Given the description of an element on the screen output the (x, y) to click on. 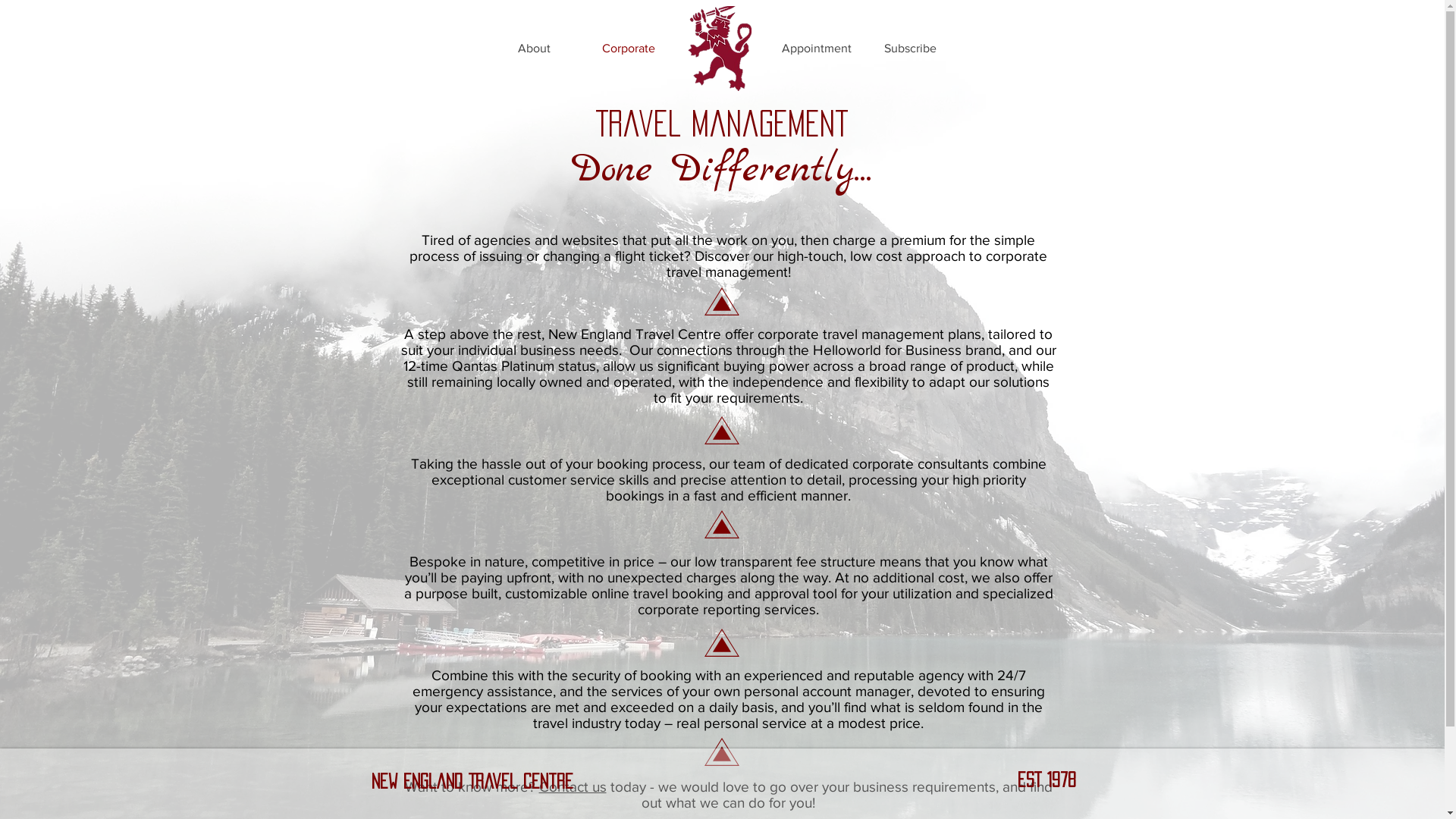
About Element type: text (533, 48)
Social Media Icons Element type: hover (733, 779)
Contact us Element type: text (571, 786)
Subscribe Element type: text (909, 48)
. Element type: text (721, 48)
Corporate Element type: text (627, 48)
Appointment Element type: text (815, 48)
